Given the description of an element on the screen output the (x, y) to click on. 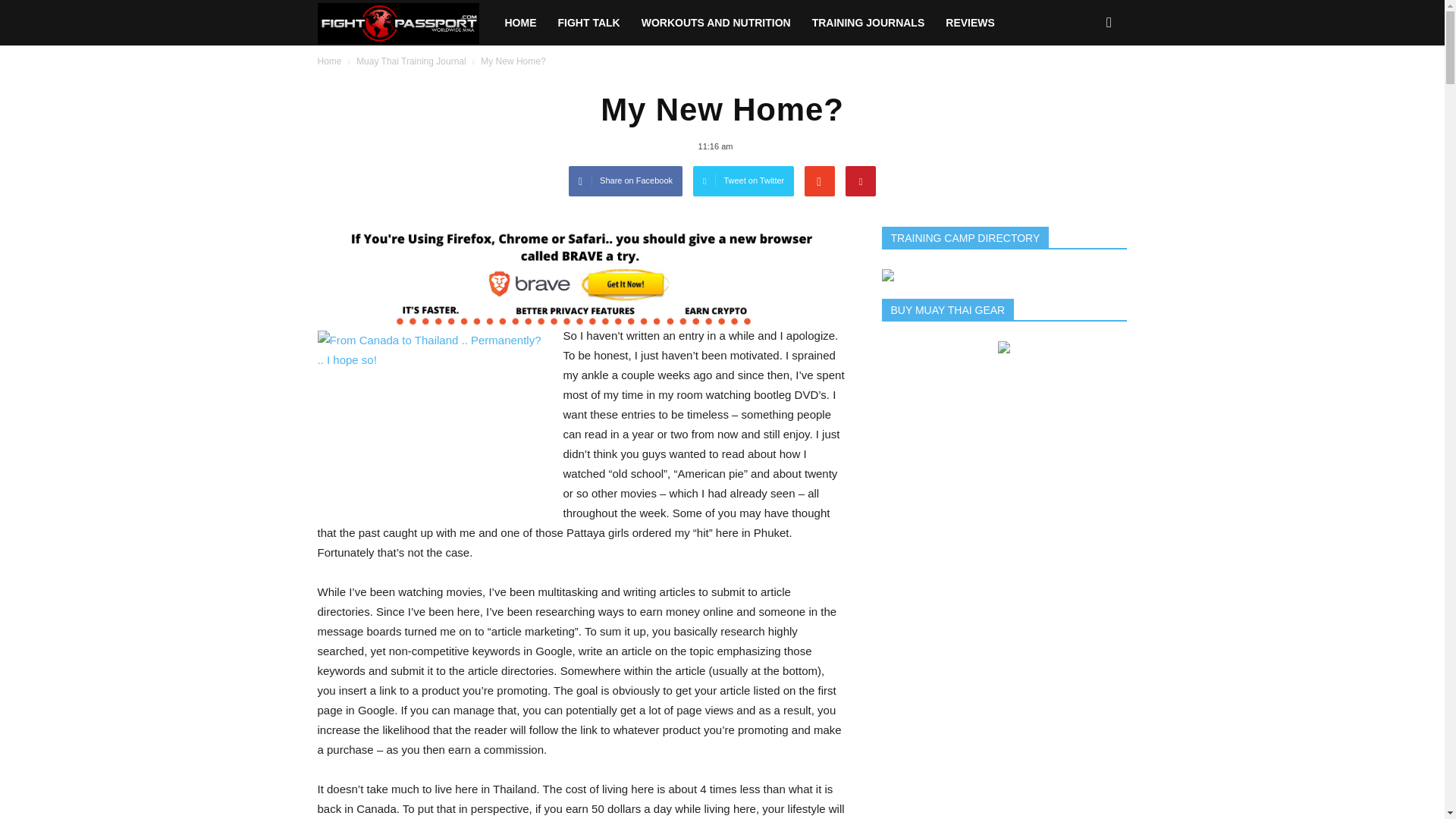
thailand-25-002 (430, 415)
HOME (521, 22)
TRAINING JOURNALS (869, 22)
FIGHT TALK (588, 22)
Share on Facebook (625, 181)
Home (328, 61)
WORKOUTS AND NUTRITION (716, 22)
Fight Passport (405, 22)
REVIEWS (970, 22)
View all posts in Muay Thai Training Journal (410, 61)
Tweet on Twitter (743, 181)
Muay Thai Training Journal (410, 61)
